Given the description of an element on the screen output the (x, y) to click on. 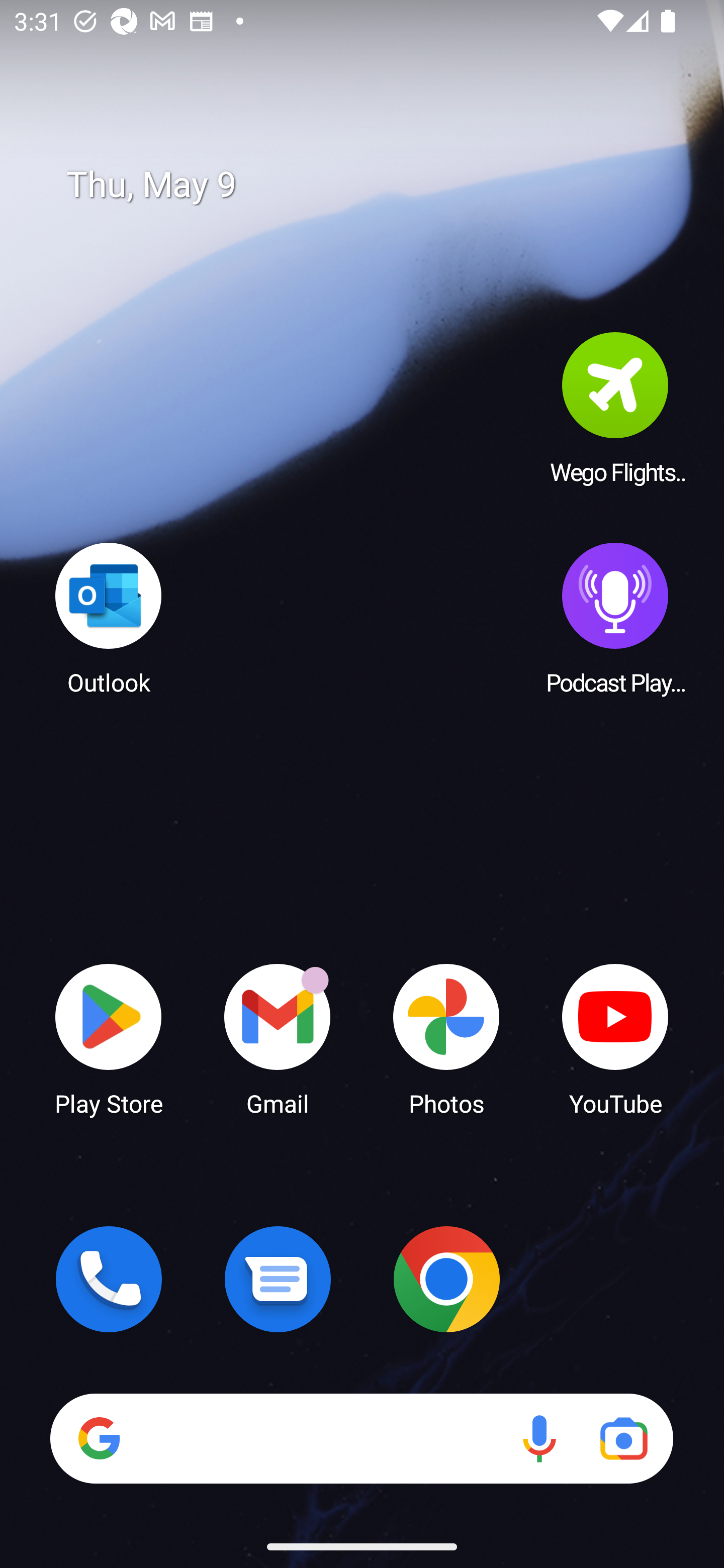
Thu, May 9 (375, 184)
Wego Flights & Hotels (615, 407)
Outlook (108, 617)
Podcast Player (615, 617)
Play Store (108, 1038)
Gmail Gmail has 18 notifications (277, 1038)
Photos (445, 1038)
YouTube (615, 1038)
Phone (108, 1279)
Messages (277, 1279)
Chrome (446, 1279)
Search Voice search Google Lens (361, 1438)
Voice search (539, 1438)
Google Lens (623, 1438)
